Given the description of an element on the screen output the (x, y) to click on. 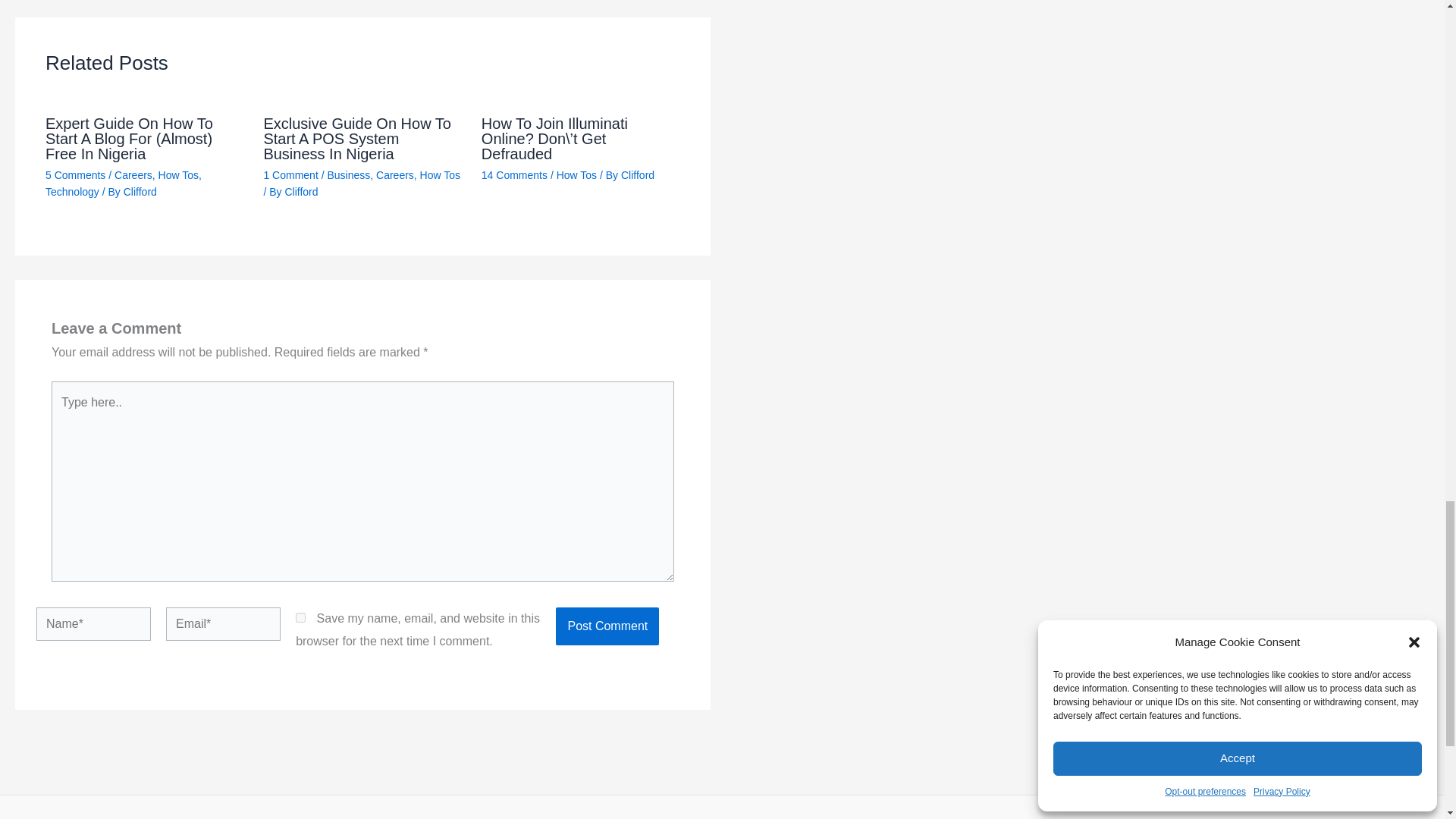
yes (300, 617)
Post Comment (607, 626)
